Given the description of an element on the screen output the (x, y) to click on. 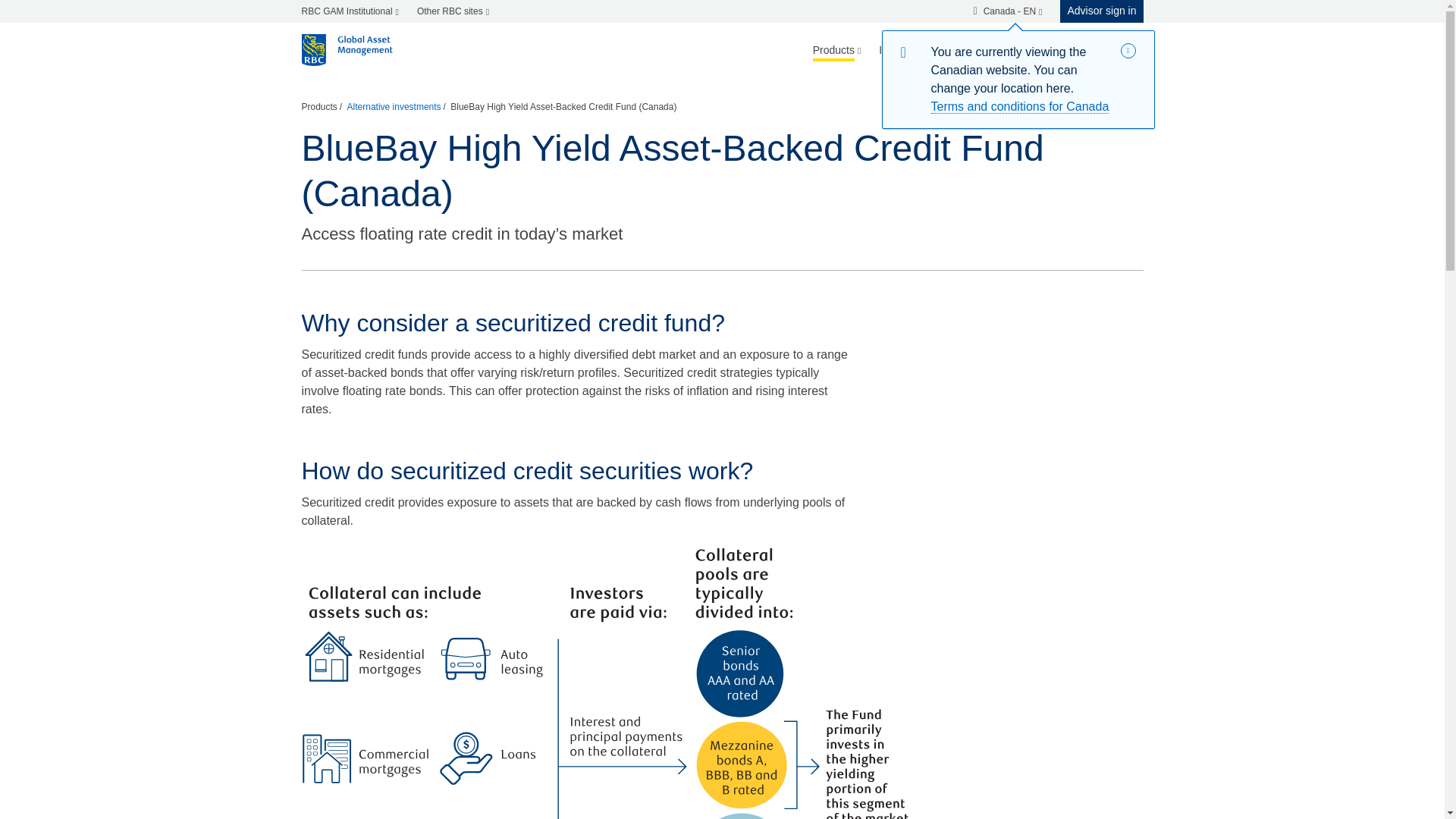
Products (836, 50)
Advisor sign in (1096, 11)
Insights (896, 50)
About us (1042, 50)
RBC GAM Institutional (354, 10)
Alternative investments (394, 107)
Canada - EN (1007, 10)
Terms and conditions for Canada (1020, 106)
Search (1113, 50)
Other RBC sites (452, 10)
